Given the description of an element on the screen output the (x, y) to click on. 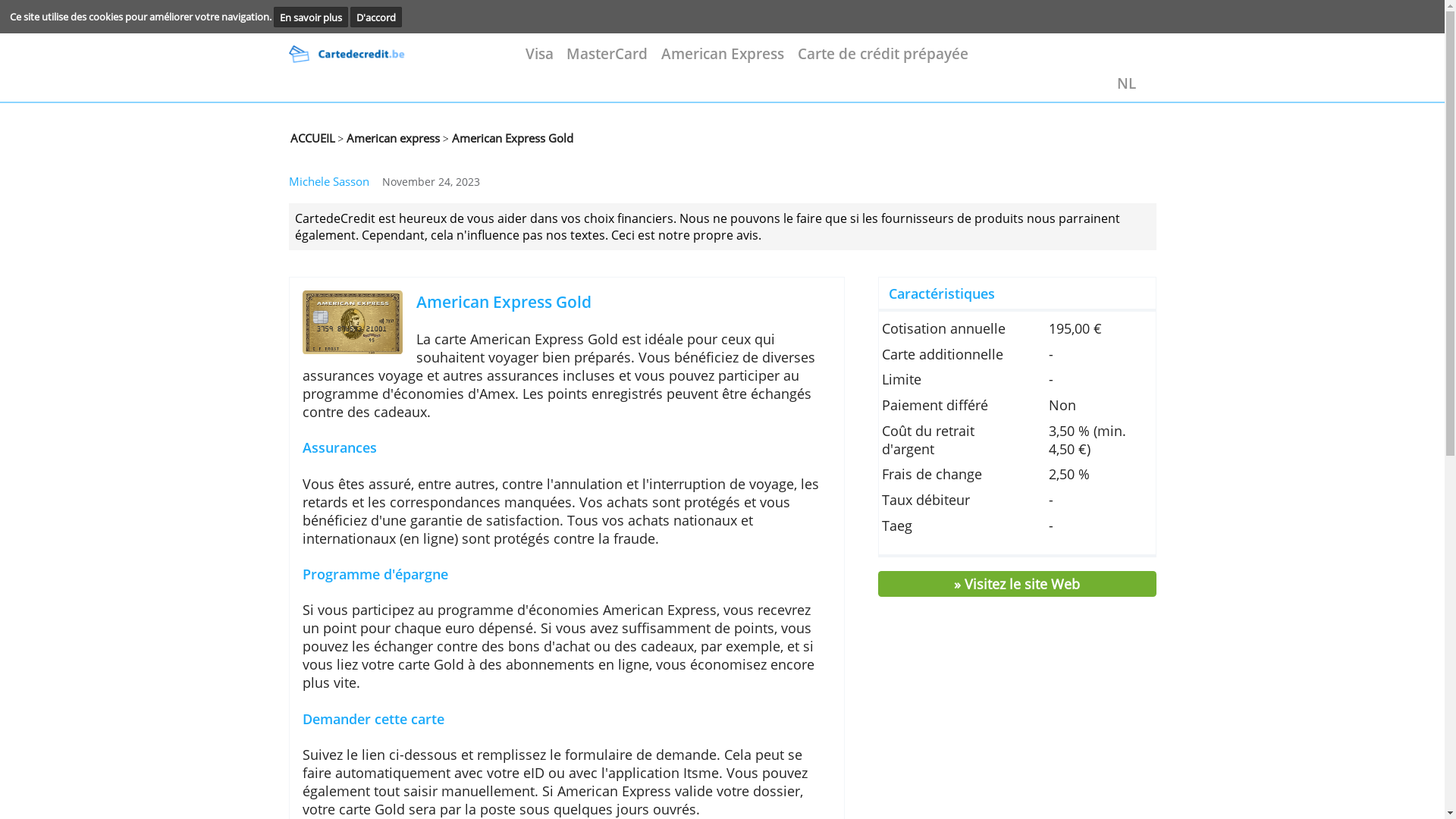
American Express Element type: text (820, 59)
En savoir plus Element type: text (352, 19)
MasterCard Element type: text (689, 59)
American Express Gold Element type: text (579, 156)
Michele Sasson Element type: text (374, 206)
NL Element type: text (1277, 94)
D'accord Element type: text (427, 19)
American Express Gold Element type: text (644, 364)
Visa Element type: text (612, 59)
ACCUEIL Element type: text (354, 156)
American express Element type: text (444, 156)
